Given the description of an element on the screen output the (x, y) to click on. 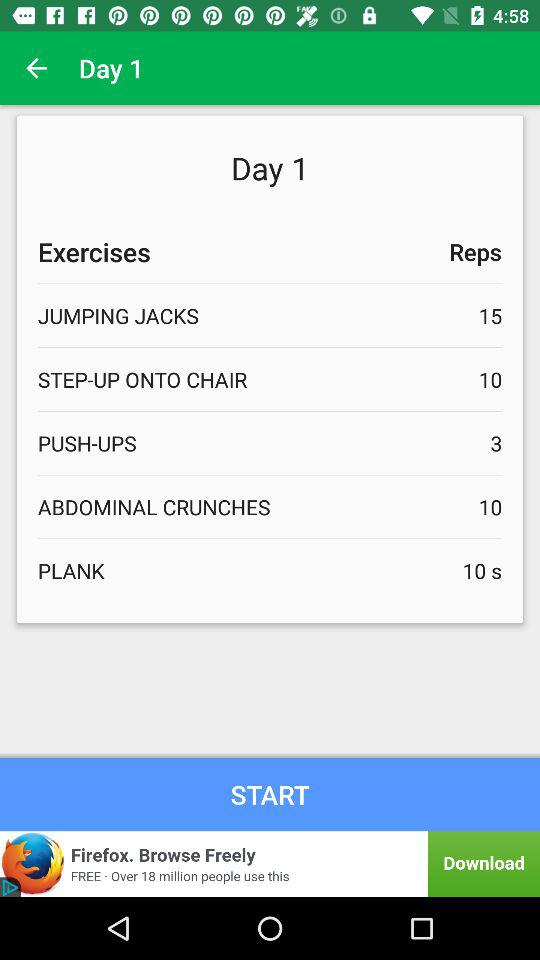
start (270, 794)
